Given the description of an element on the screen output the (x, y) to click on. 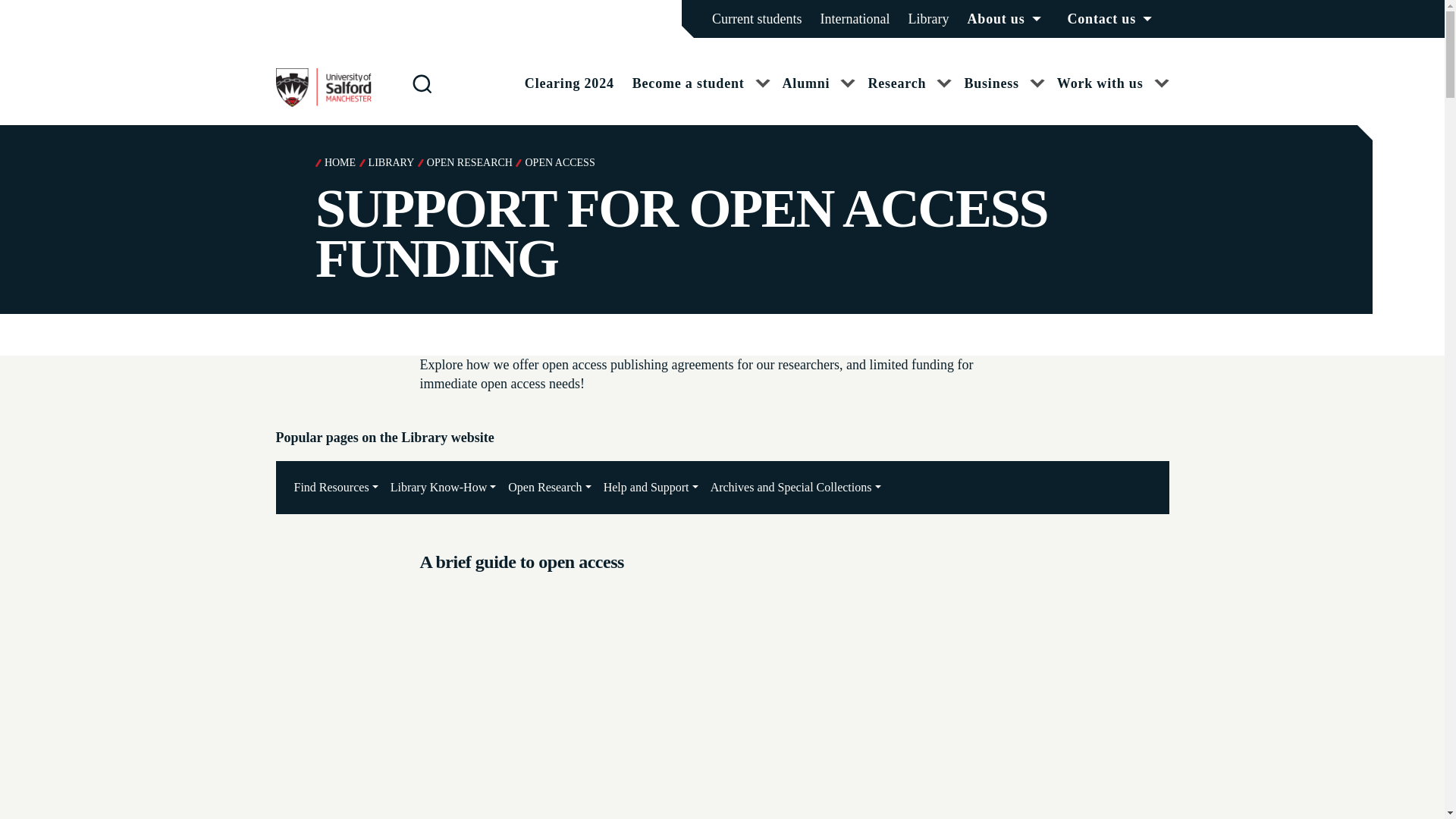
Alumni (819, 97)
International (855, 18)
Search (9, 9)
Research (909, 97)
Contact us (1113, 18)
Current students (756, 18)
Search (421, 83)
Become a student (700, 97)
About us (1008, 18)
Clearing 2024 (569, 83)
